Given the description of an element on the screen output the (x, y) to click on. 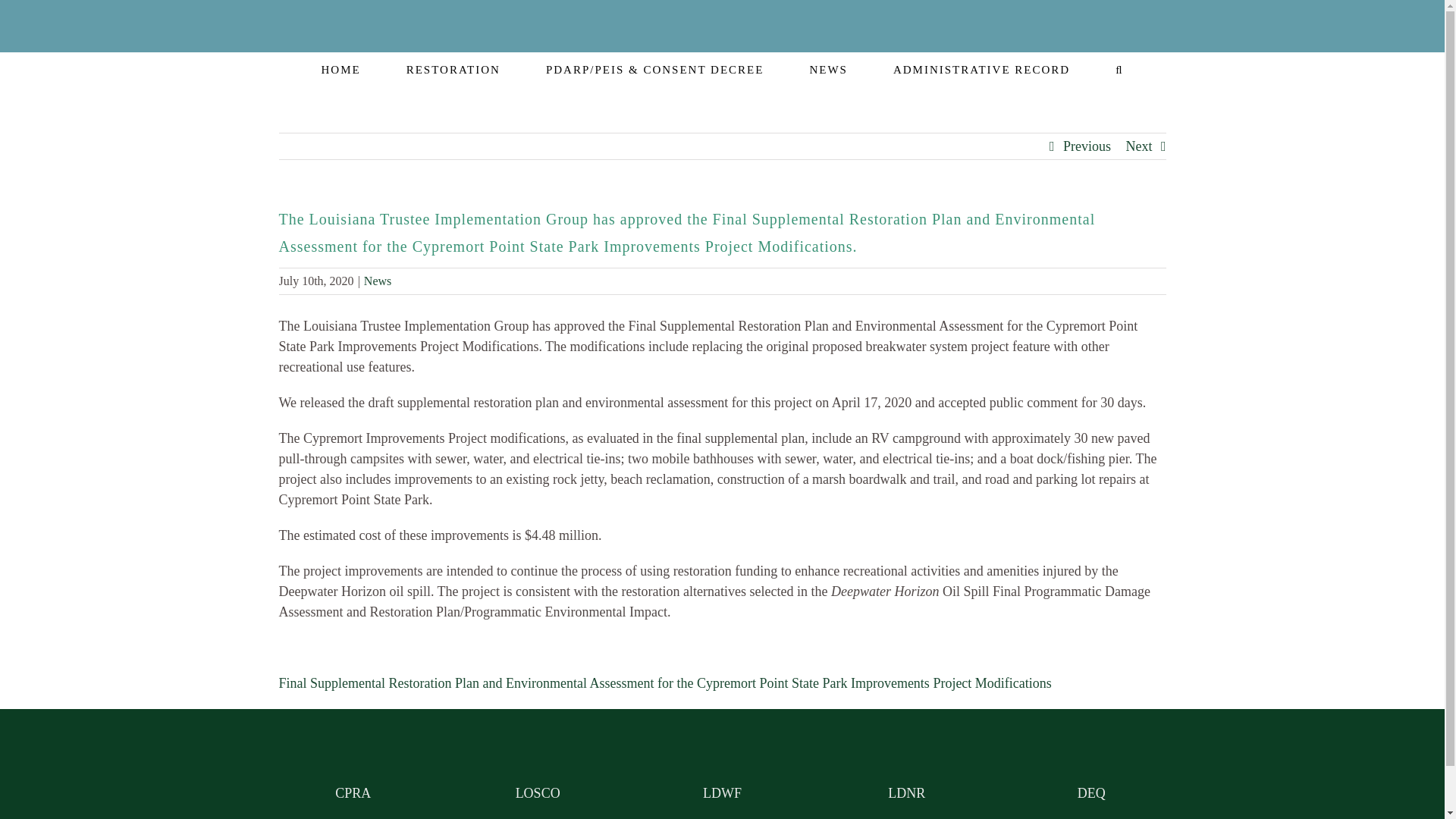
HOME (339, 68)
ADMINISTRATIVE RECORD (981, 68)
NEWS (828, 68)
RESTORATION (453, 68)
